Given the description of an element on the screen output the (x, y) to click on. 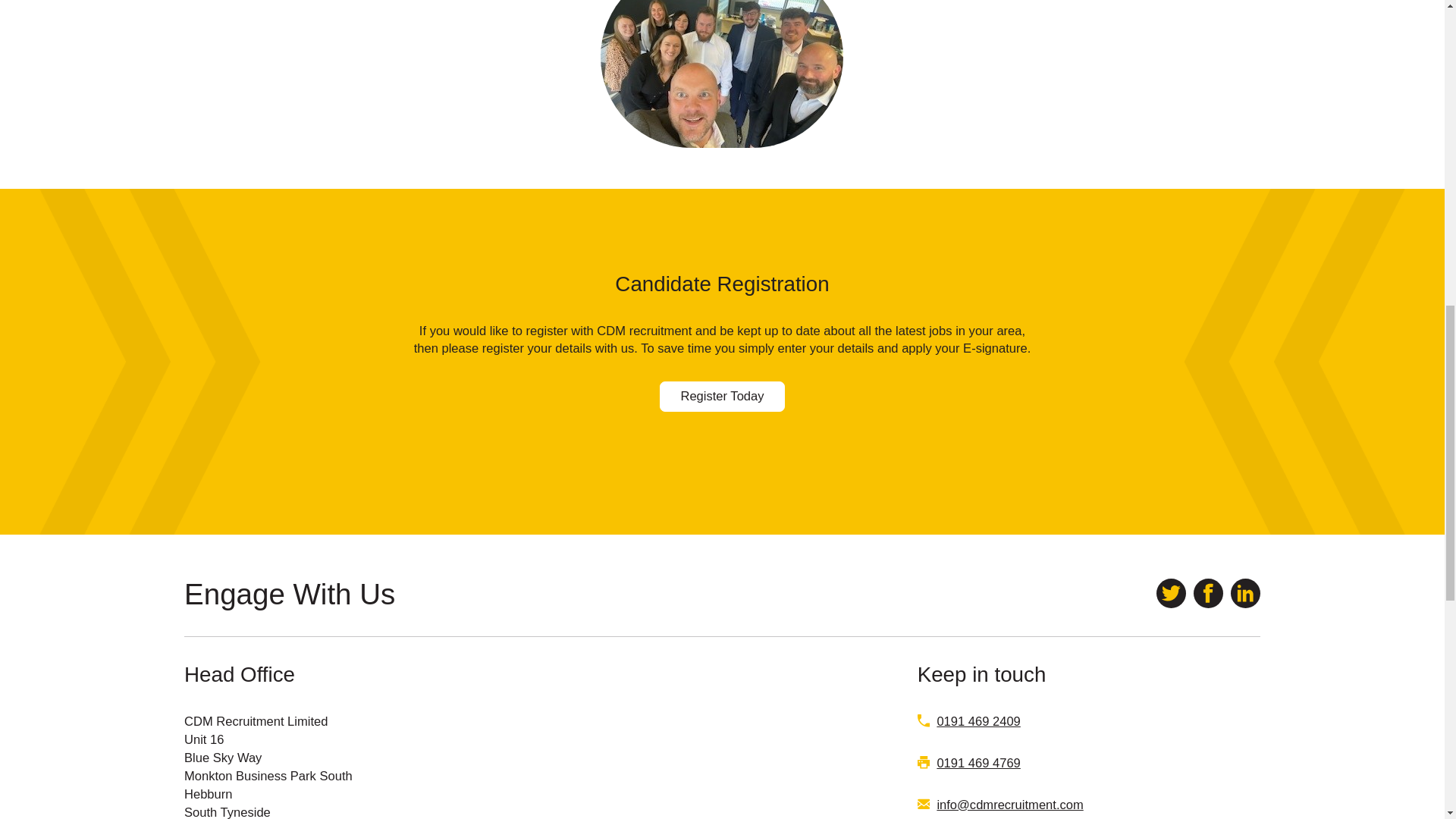
0191 469 4769 (978, 762)
Register Today (721, 396)
0191 469 2409 (978, 721)
